Given the description of an element on the screen output the (x, y) to click on. 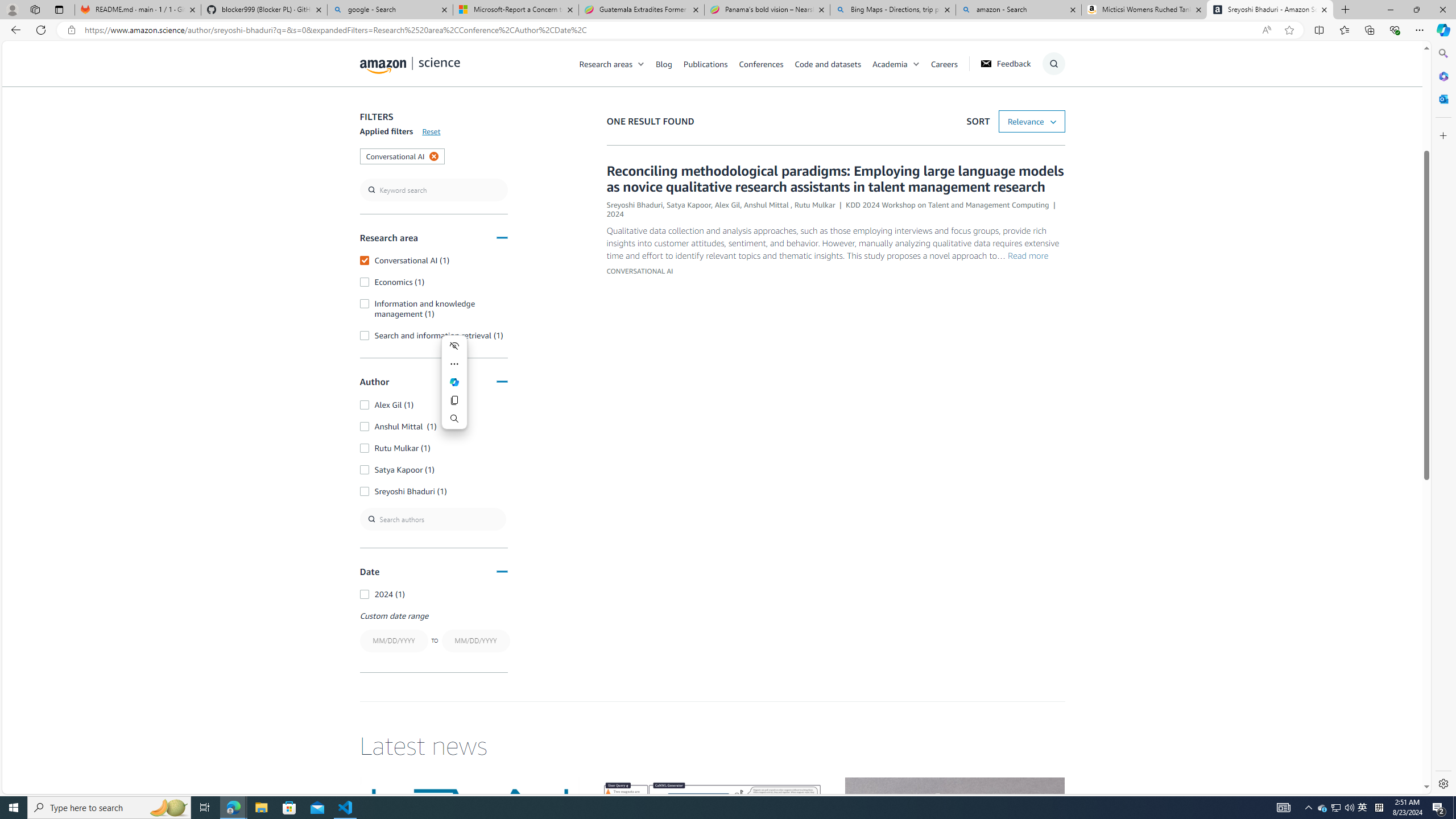
Academia (901, 63)
View site information (70, 29)
amazon - Search (1018, 9)
Research areas (606, 63)
Workspaces (34, 9)
More actions (454, 363)
Customize (1442, 135)
home page (409, 62)
KDD 2024 Workshop on Talent and Management Computing (947, 204)
google - Search (389, 9)
